Given the description of an element on the screen output the (x, y) to click on. 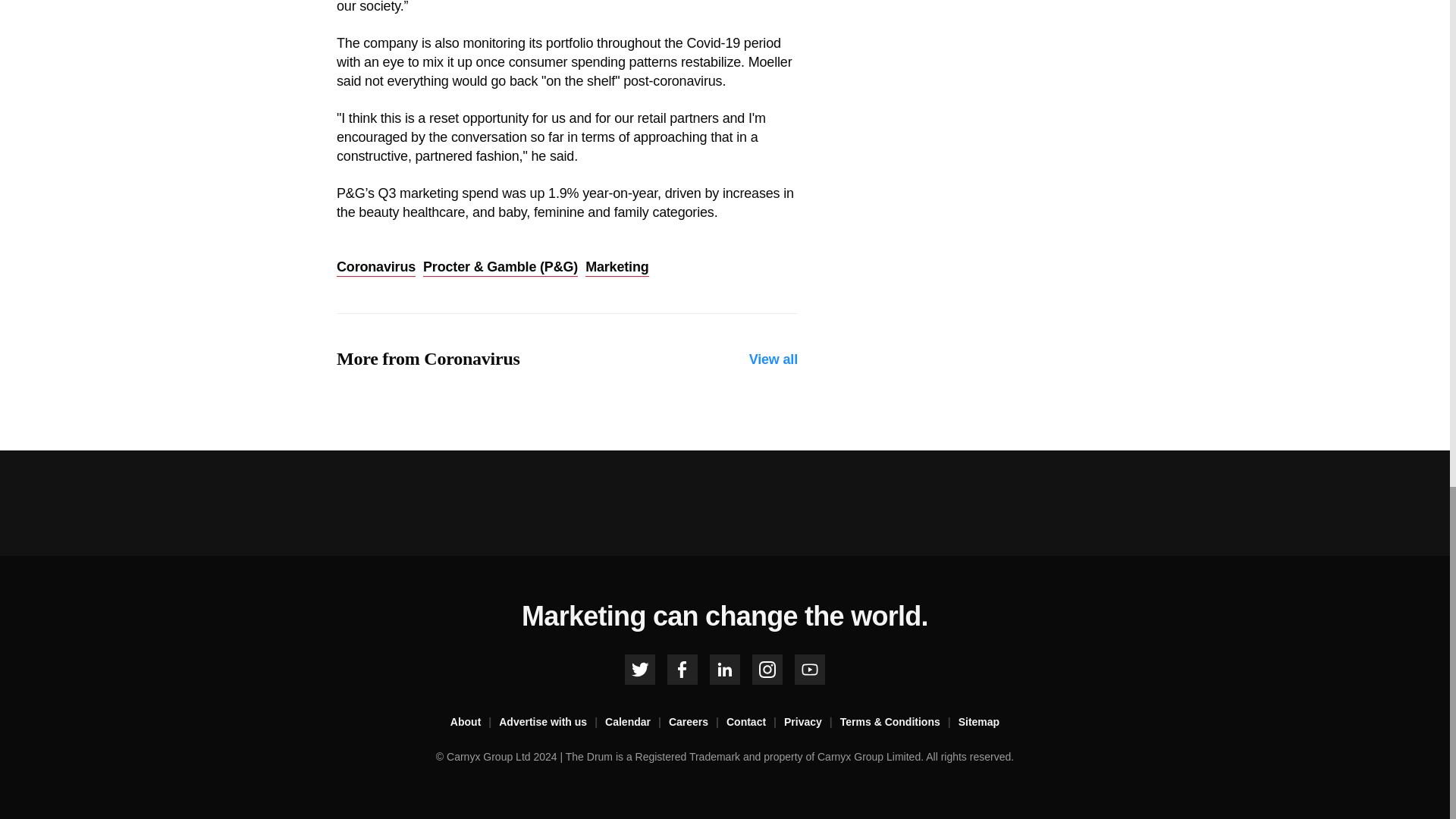
Contact (755, 722)
Advertise with us (552, 722)
Calendar (636, 722)
About (474, 722)
Marketing (616, 267)
Coronavirus (375, 267)
View all (773, 359)
Careers (697, 722)
